Given the description of an element on the screen output the (x, y) to click on. 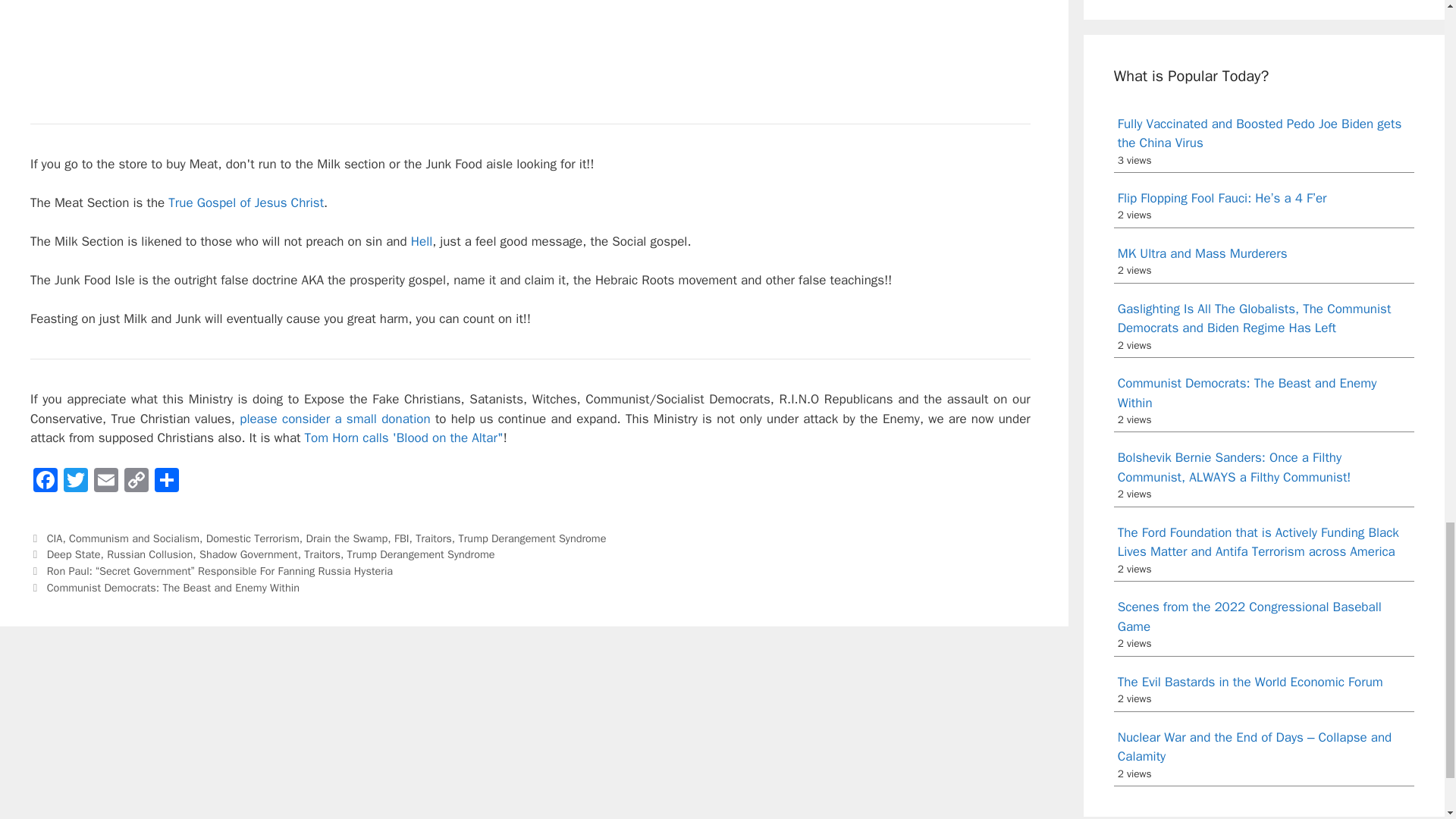
Email (105, 481)
Twitter (75, 481)
Domestic Terrorism (252, 538)
please consider a small donation (334, 418)
Tom Horn calls 'Blood on the Altar" (403, 437)
CIA (54, 538)
Copy Link (135, 481)
True Gospel of Jesus Christ (245, 202)
Hell (421, 241)
Communism and Socialism (133, 538)
Facebook (45, 481)
